Given the description of an element on the screen output the (x, y) to click on. 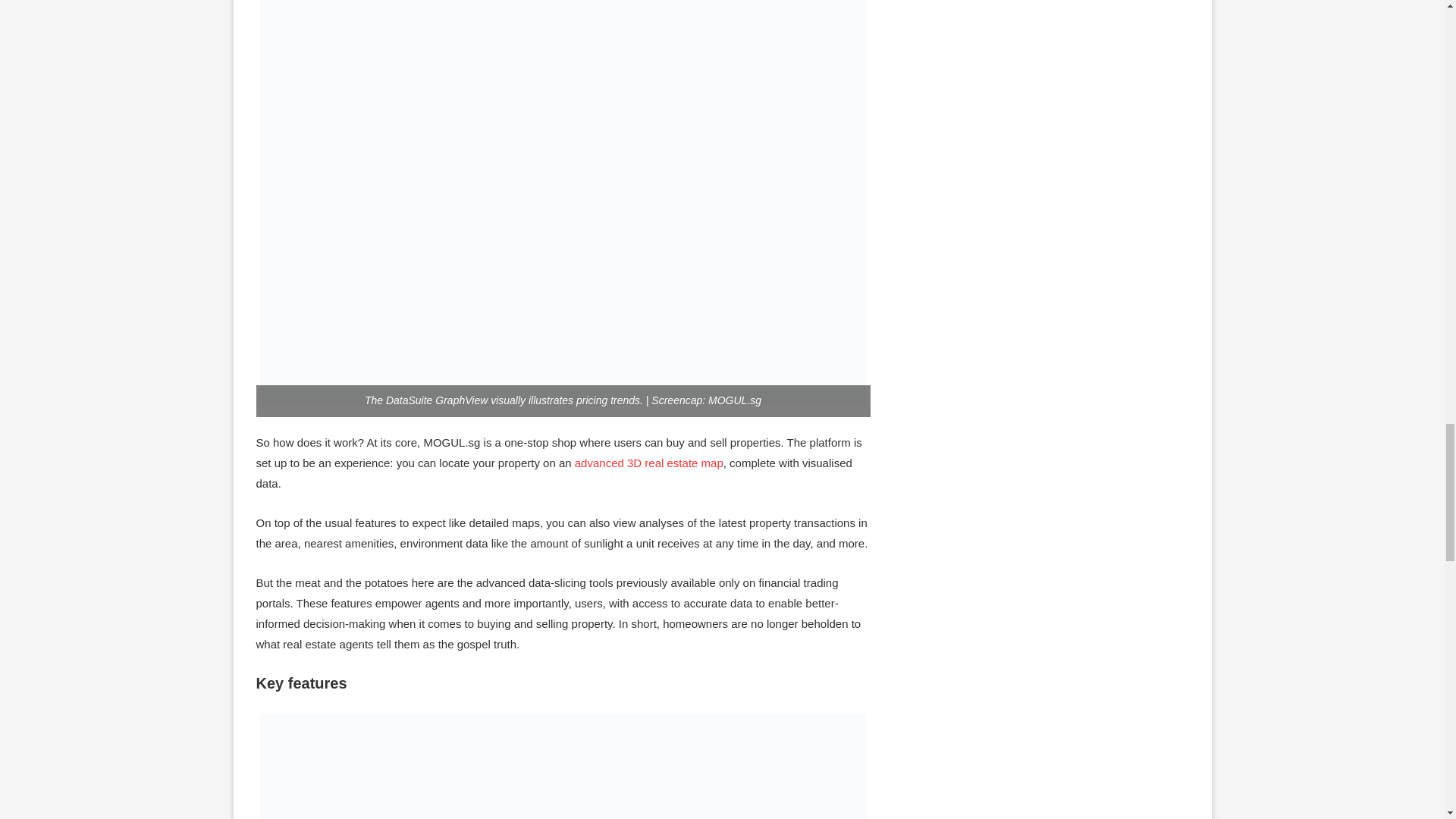
advanced 3D real estate map (649, 462)
